Given the description of an element on the screen output the (x, y) to click on. 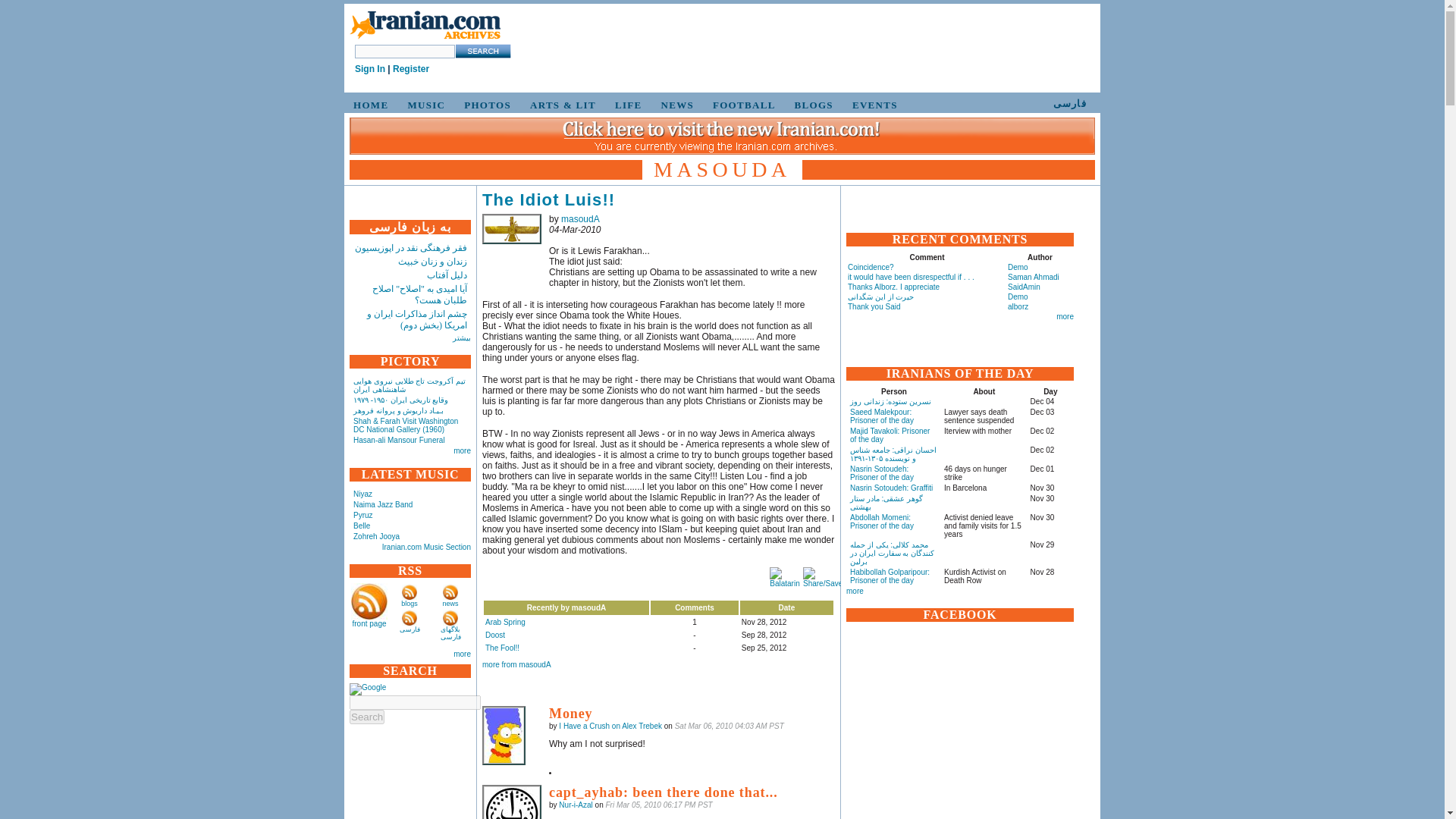
HOME (368, 105)
PHOTOS (484, 105)
news (450, 603)
LIFE (625, 105)
Nur-i-Azal (511, 801)
MUSIC (423, 105)
FOOTBALL (741, 105)
blogs (409, 603)
View user profile. (610, 725)
NEWS (674, 105)
